Given the description of an element on the screen output the (x, y) to click on. 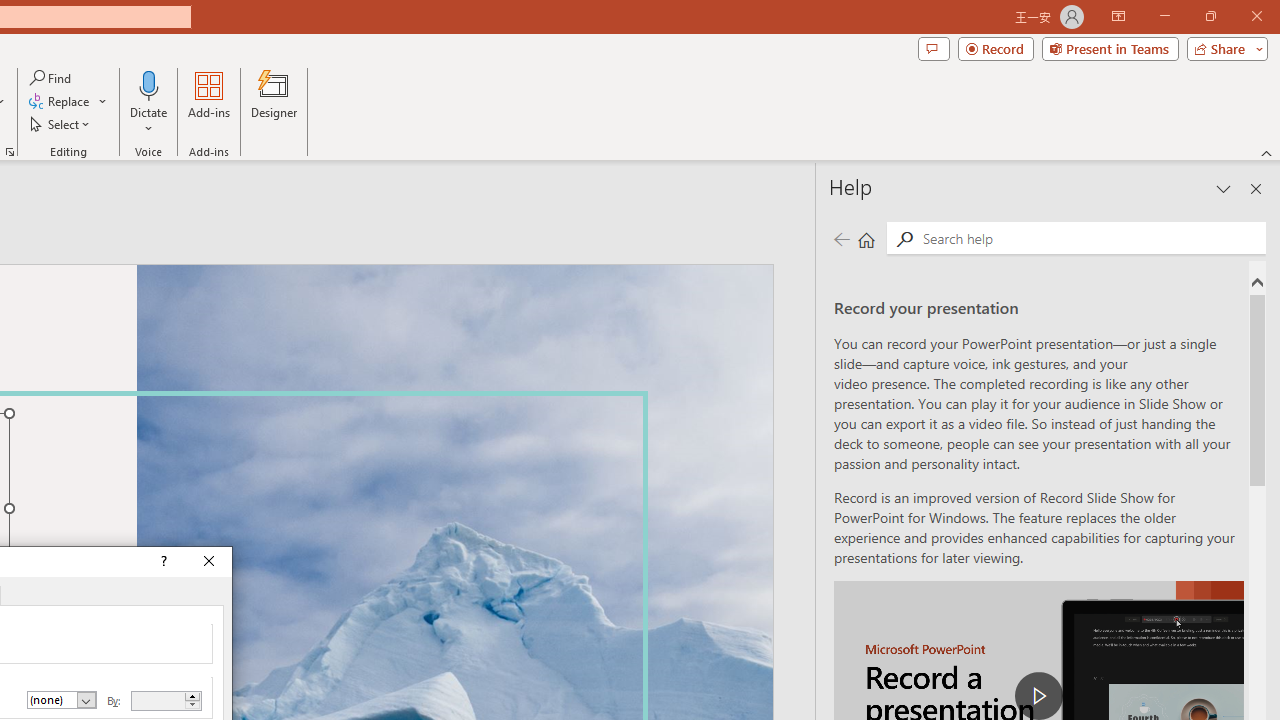
Previous page (841, 238)
play Record a Presentation (1038, 695)
Special (61, 700)
